Given the description of an element on the screen output the (x, y) to click on. 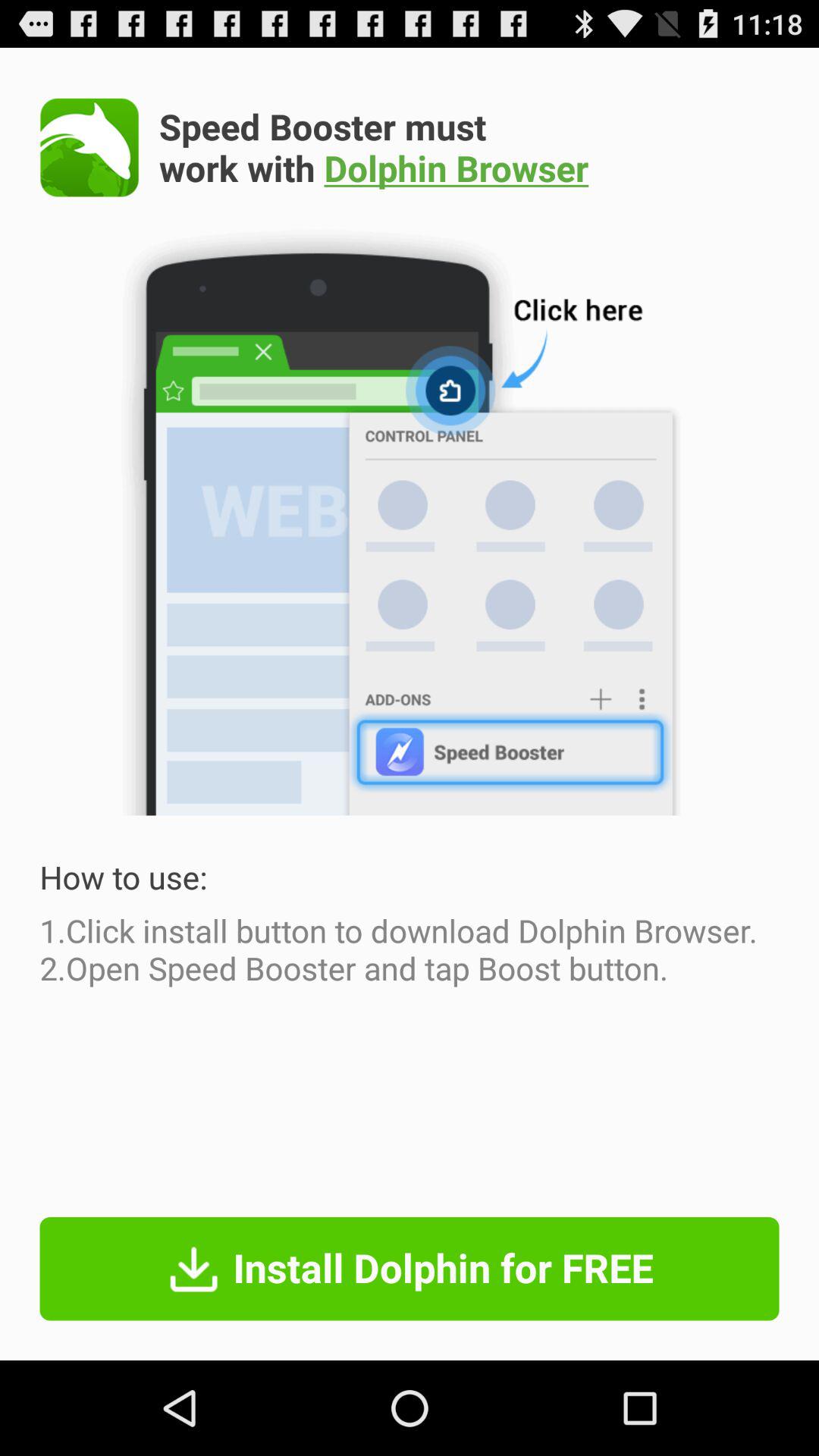
see the app (89, 147)
